Given the description of an element on the screen output the (x, y) to click on. 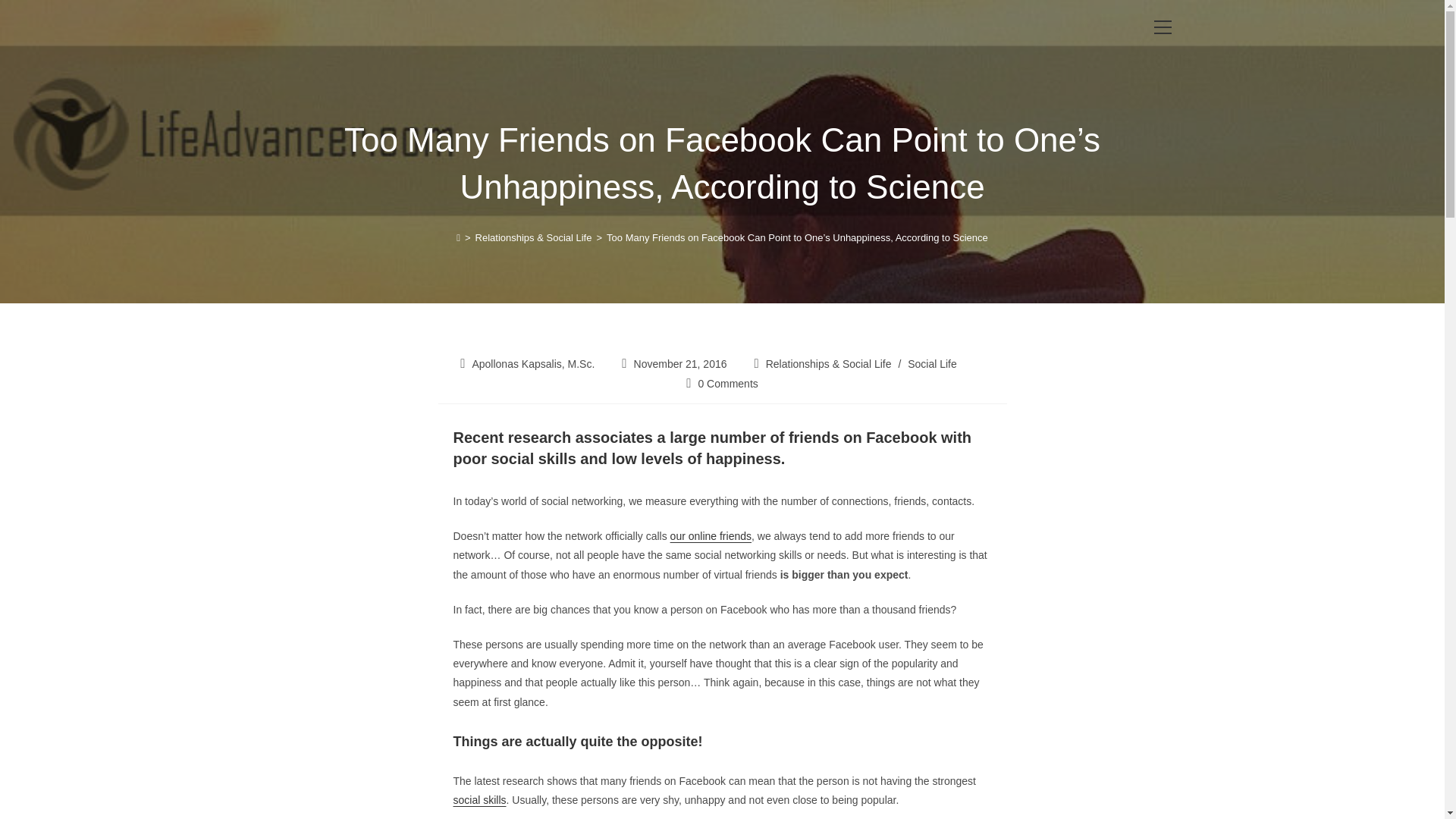
Posts by Apollonas Kapsalis, M.Sc. (532, 363)
View website Menu (1162, 27)
